Given the description of an element on the screen output the (x, y) to click on. 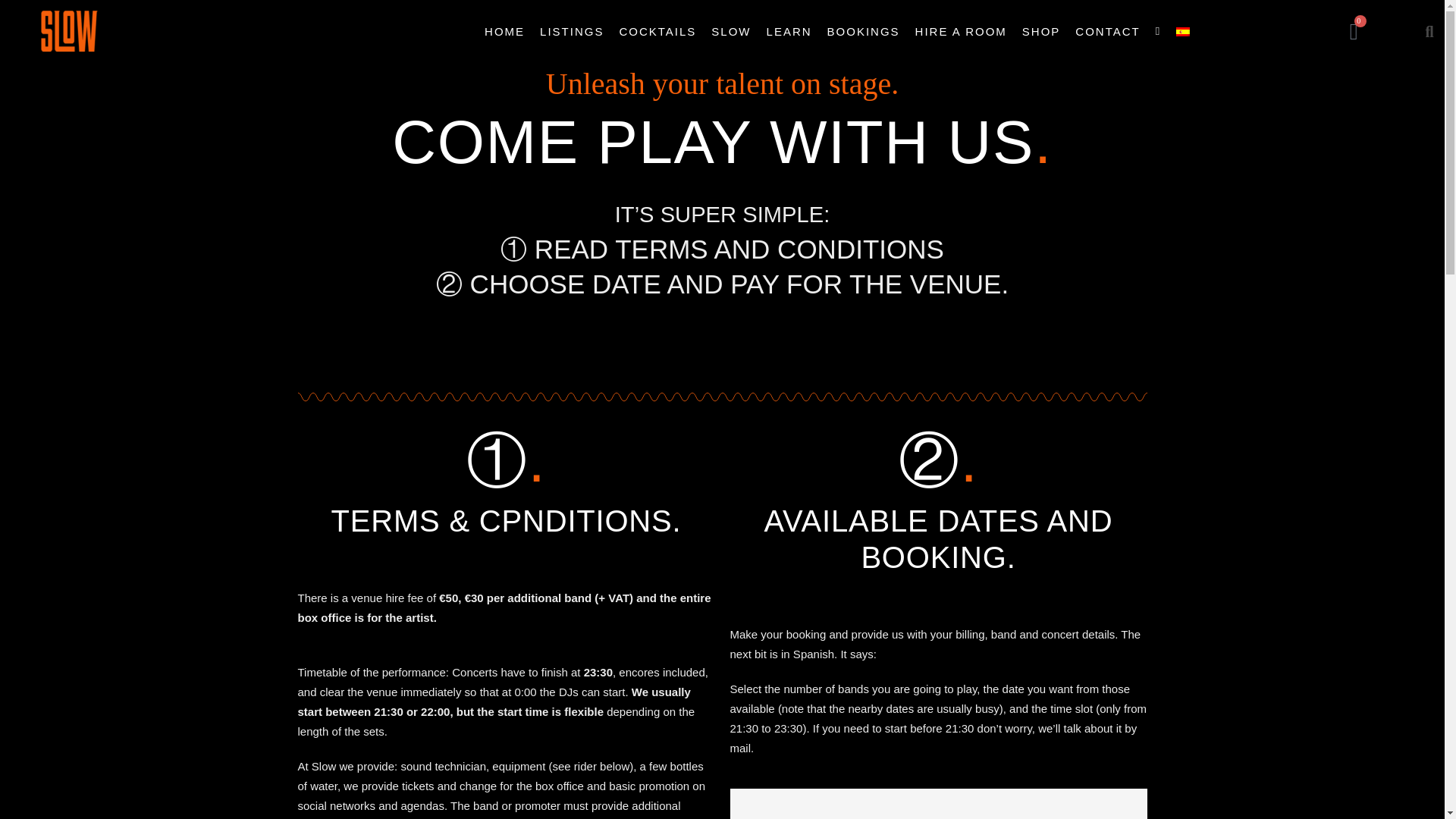
LISTINGS (571, 30)
LEARN (788, 30)
COCKTAILS (657, 30)
HOME (504, 30)
BOOKINGS (863, 30)
SLOW (730, 30)
HIRE A ROOM (960, 30)
SHOP (1041, 30)
